Given the description of an element on the screen output the (x, y) to click on. 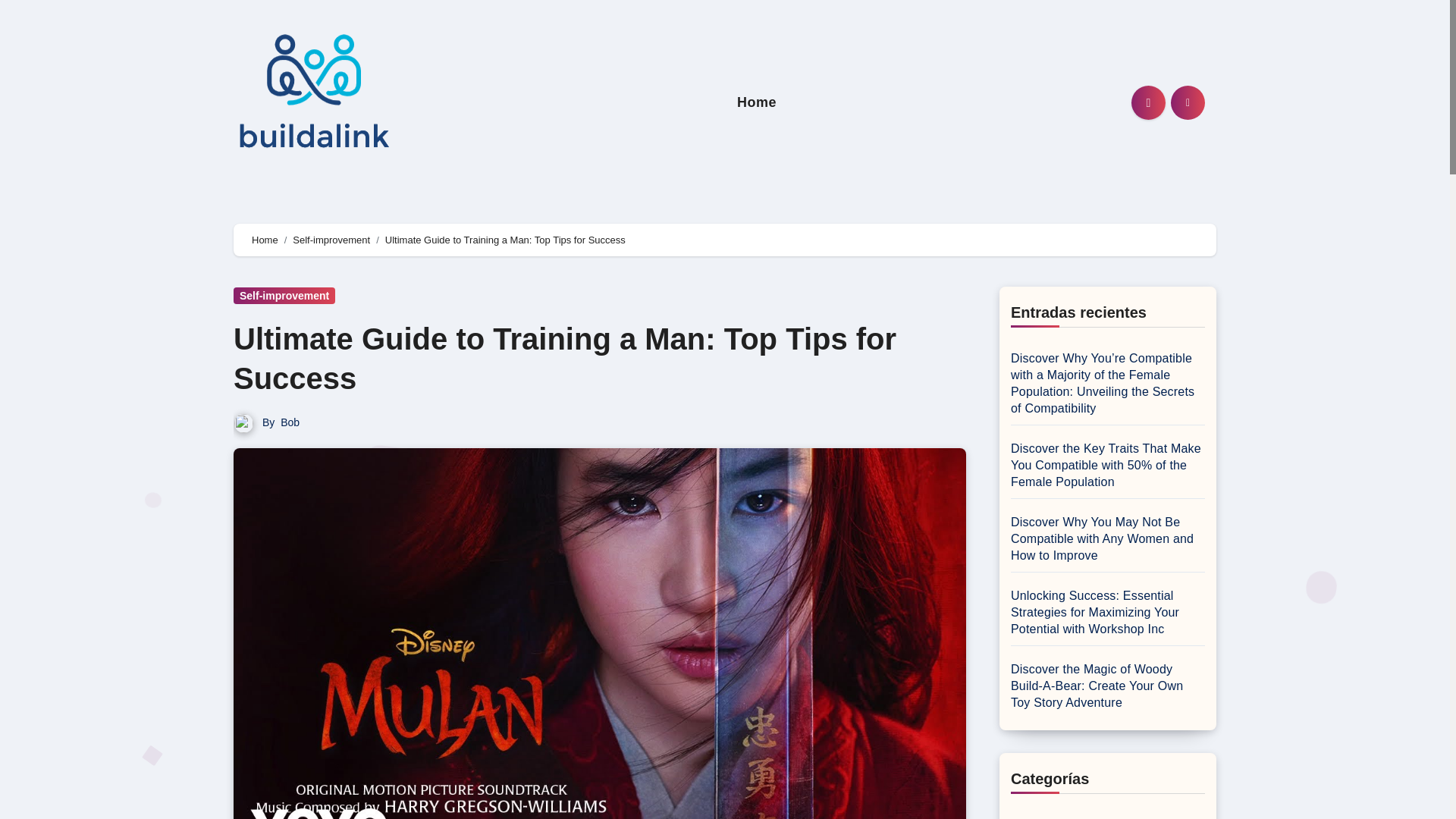
Self-improvement (330, 239)
Ultimate Guide to Training a Man: Top Tips for Success (564, 358)
Bob (290, 422)
Home (264, 239)
Self-improvement (283, 295)
Home (756, 102)
Home (756, 102)
